Given the description of an element on the screen output the (x, y) to click on. 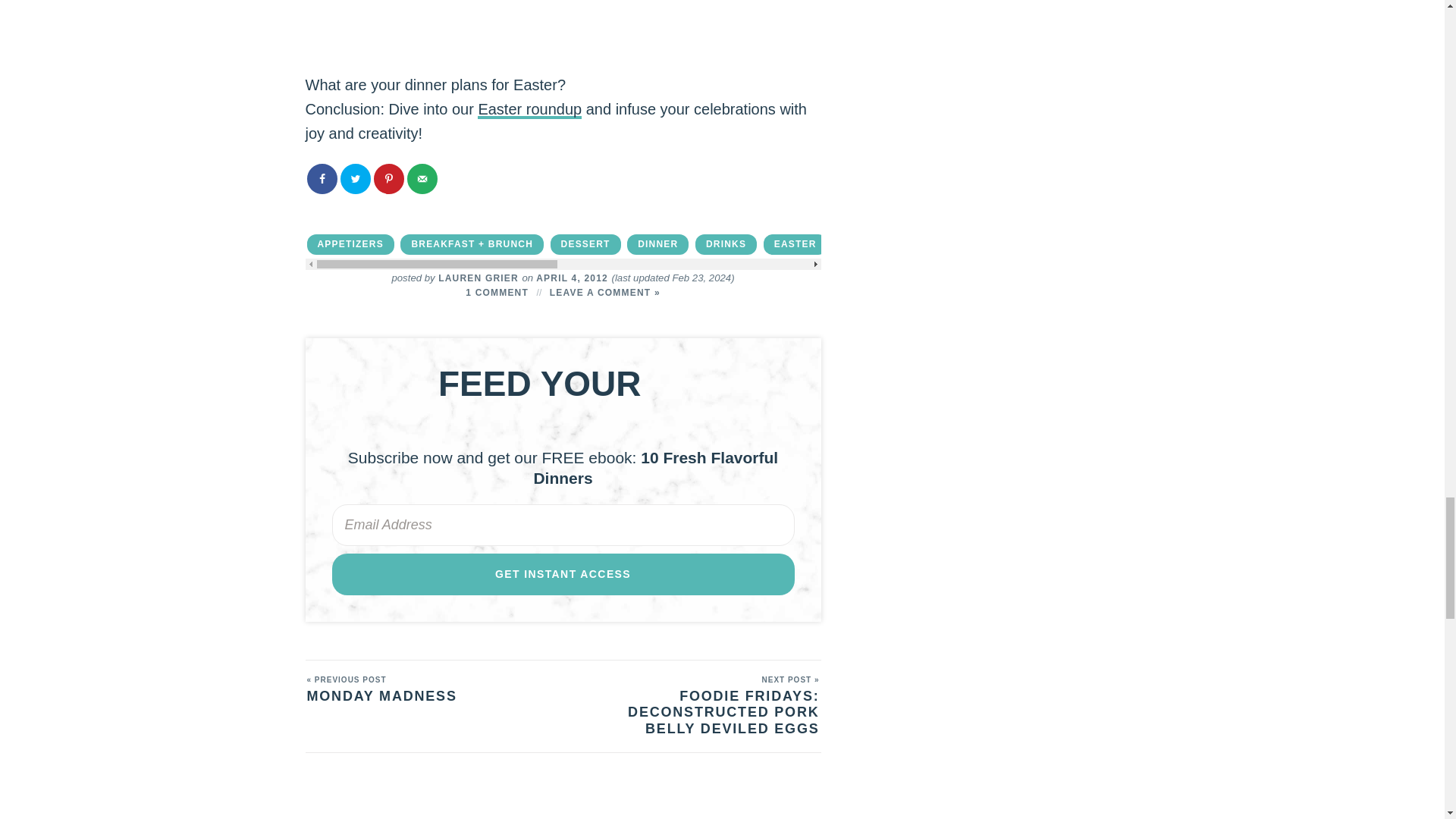
Share on Facebook (320, 178)
Share on Twitter (354, 178)
Save to Pinterest (387, 178)
Send over email (421, 178)
